Given the description of an element on the screen output the (x, y) to click on. 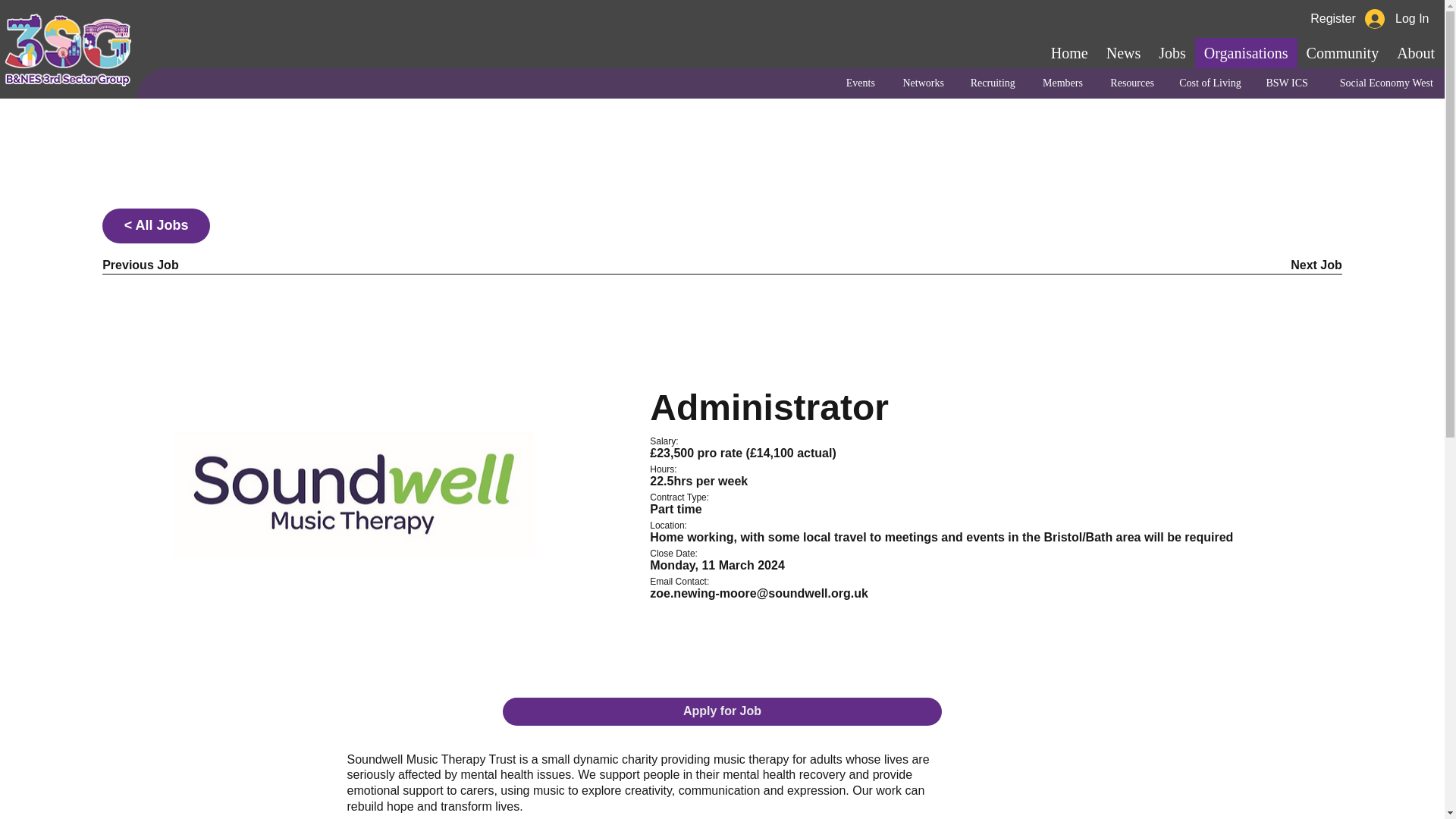
Register (1332, 18)
Resources (1130, 82)
Events (858, 82)
BSW ICS (1285, 82)
About (1415, 52)
Home (1069, 52)
Log In (1396, 18)
Members (1060, 82)
News (1123, 52)
Recruiting (990, 82)
Networks (920, 82)
Cost of Living (1209, 82)
Jobs (1172, 52)
